Given the description of an element on the screen output the (x, y) to click on. 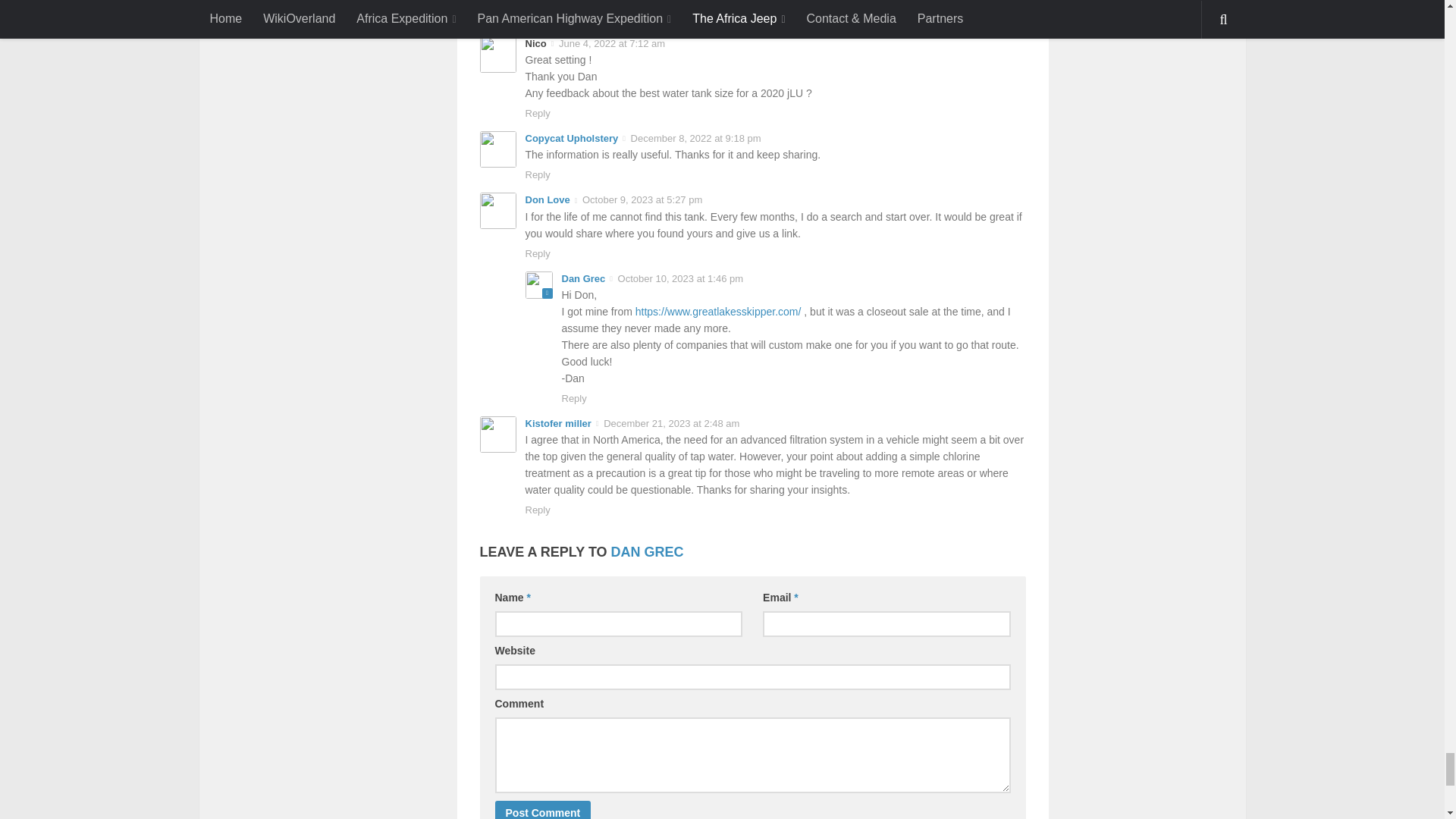
Post Comment (543, 809)
